Given the description of an element on the screen output the (x, y) to click on. 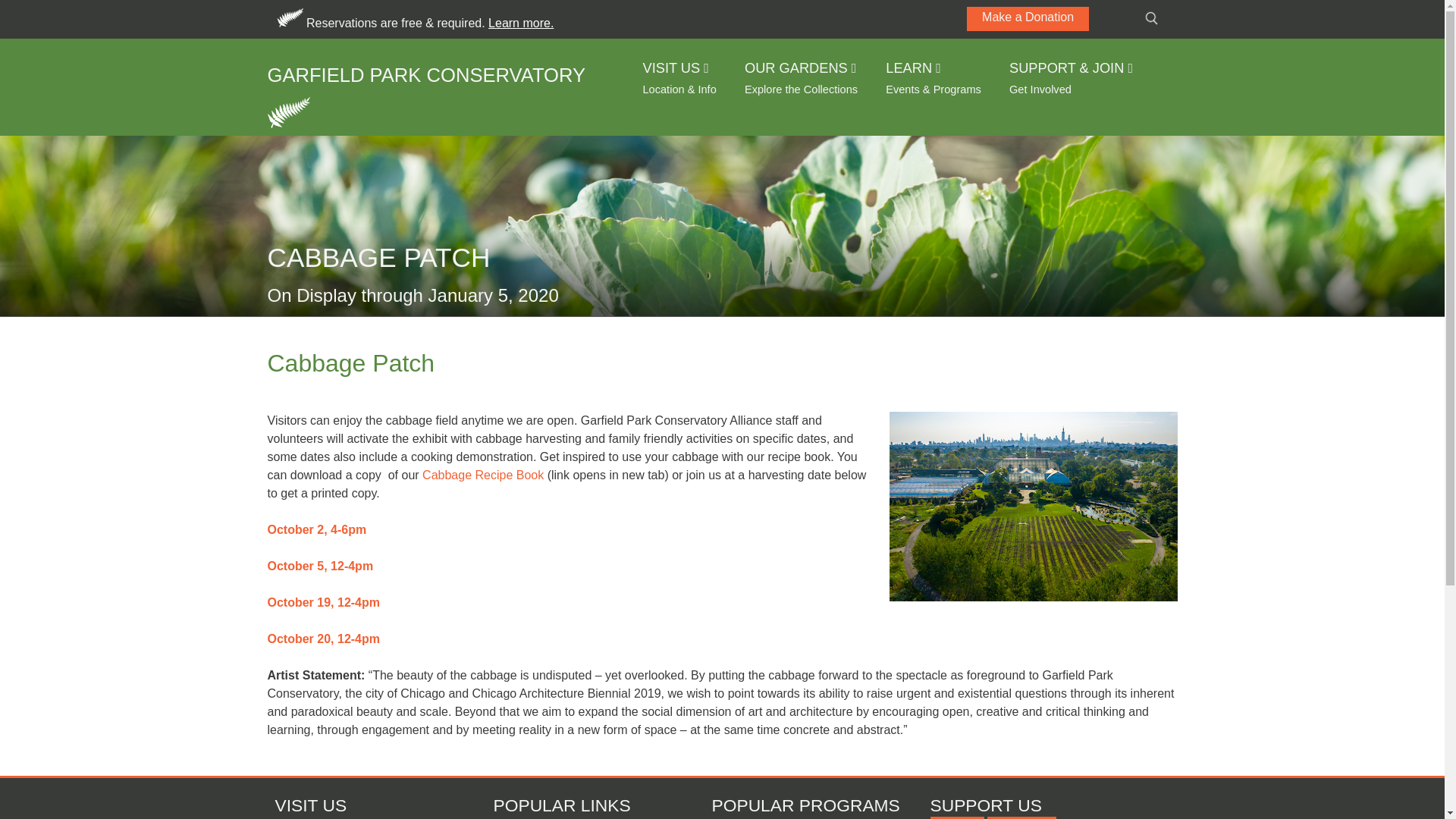
Cabbage Recipe Book (482, 474)
Learn more. (520, 22)
Search (25, 11)
Make a Donation (1027, 18)
October 20, 12-4pm (323, 638)
October 5, 12-4pm (319, 565)
Search for: (1154, 18)
October 19, 12-4pm (323, 602)
October 2, 4-6pm (316, 529)
GARFIELD PARK CONSERVATORY (425, 69)
